Given the description of an element on the screen output the (x, y) to click on. 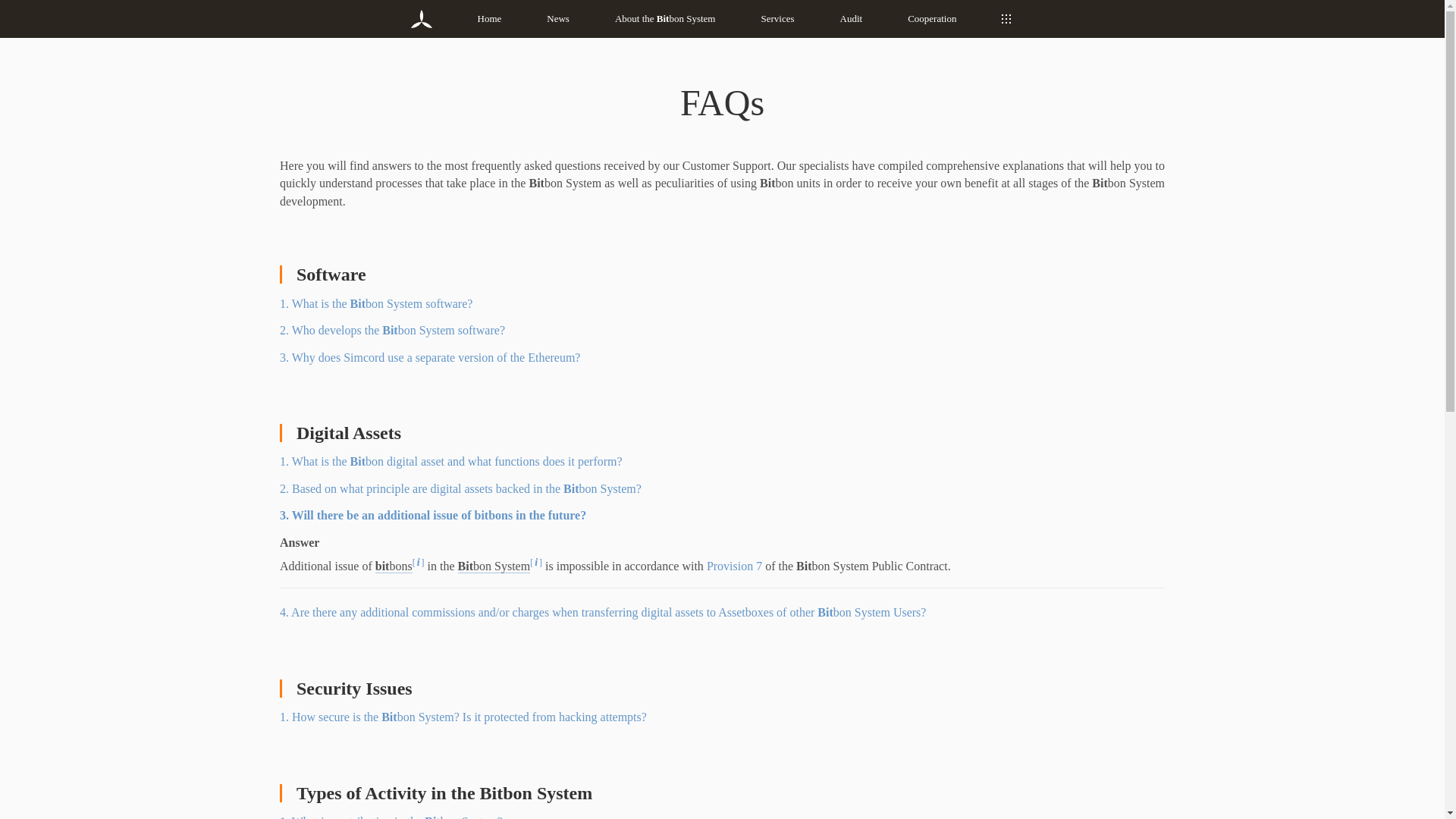
About the Bitbon System (665, 18)
2. Who develops the Bitbon System software? (392, 329)
Provision 7 (733, 565)
Services (777, 18)
3. Why does Simcord use a separate version of the Ethereum? (429, 357)
News (558, 18)
1. What is the Bitbon System software? (375, 303)
Audit (851, 18)
Home (489, 18)
Cooperation (931, 18)
